Given the description of an element on the screen output the (x, y) to click on. 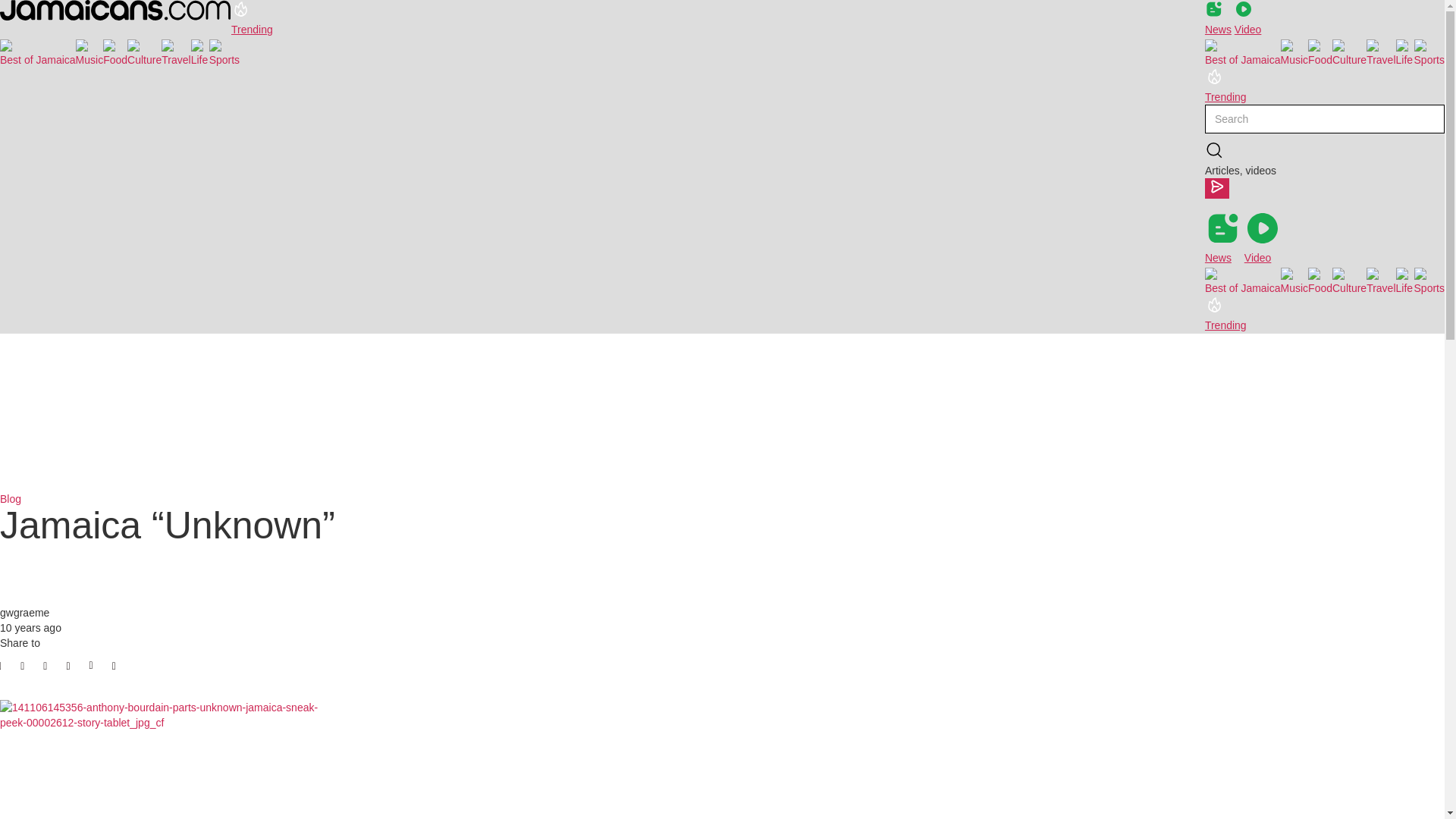
Travel (1380, 51)
Culture (1349, 280)
Travel (175, 51)
Best of Jamaica (37, 51)
Sports (224, 51)
Music (89, 51)
Trending (1225, 85)
Blog (10, 499)
Culture (144, 51)
Trending (1225, 313)
Trending (252, 18)
Best of Jamaica (1243, 280)
Culture (1349, 51)
Music (1294, 280)
Travel (1380, 280)
